Given the description of an element on the screen output the (x, y) to click on. 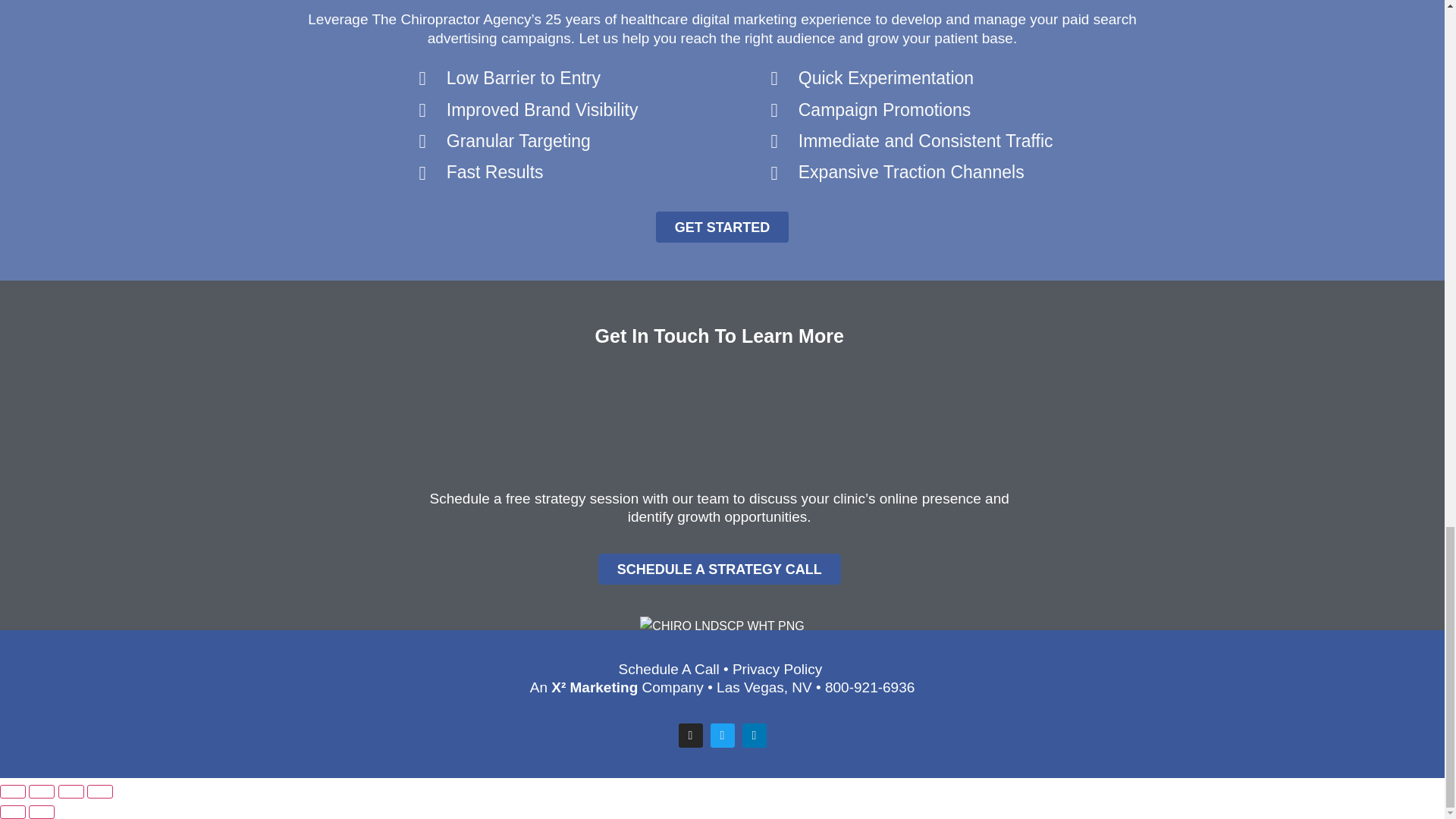
GET STARTED (722, 226)
SCHEDULE A STRATEGY CALL (719, 568)
Schedule A Call (668, 668)
CHIRO LNDSCP WHT PNG (721, 626)
